Given the description of an element on the screen output the (x, y) to click on. 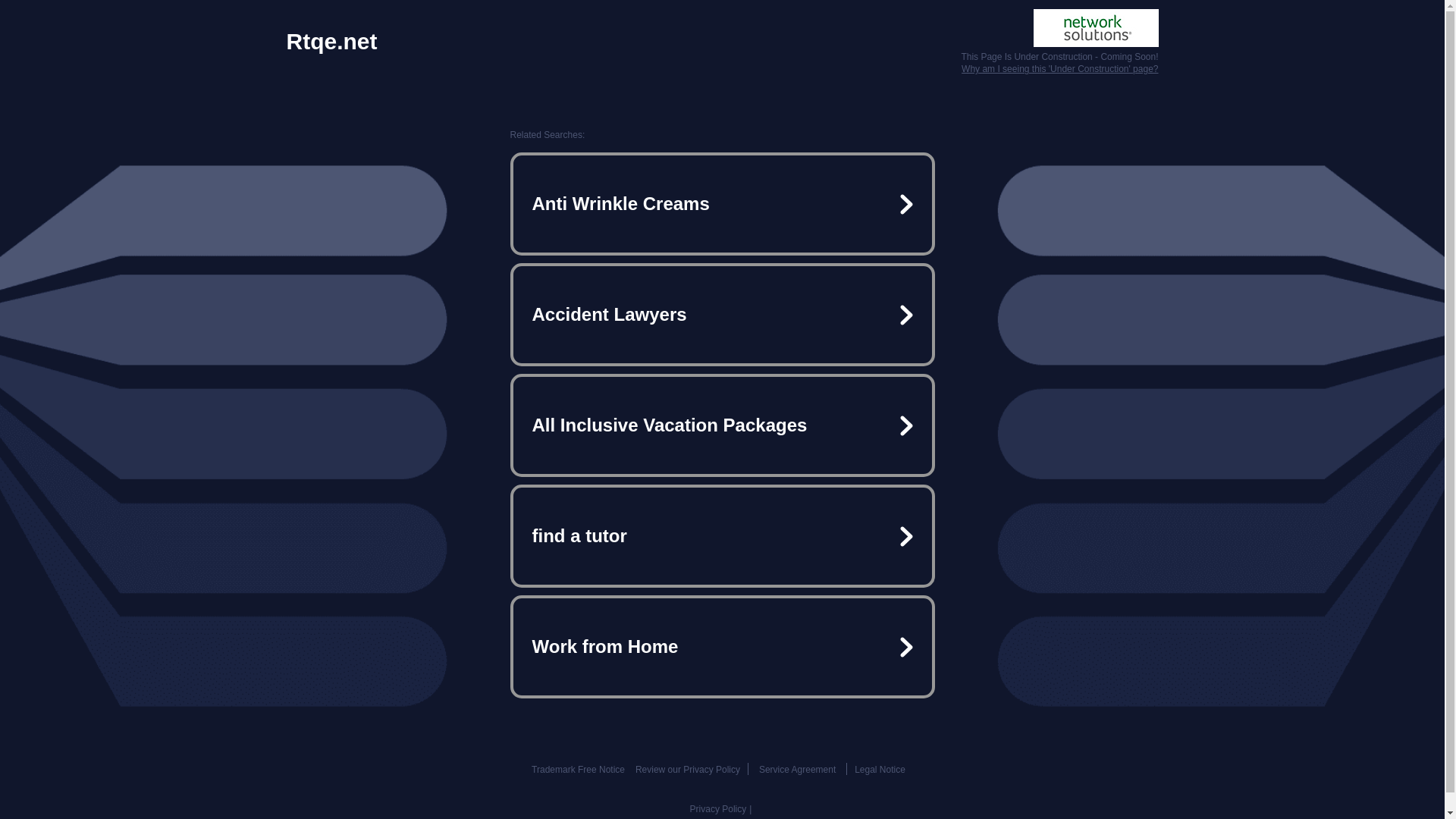
Legal Notice (879, 769)
Accident Lawyers (721, 314)
Anti Wrinkle Creams (721, 203)
Review our Privacy Policy (686, 769)
find a tutor (721, 535)
Why am I seeing this 'Under Construction' page? (1058, 68)
All Inclusive Vacation Packages (721, 425)
find a tutor (721, 535)
Privacy Policy (718, 808)
Work from Home (721, 646)
